Given the description of an element on the screen output the (x, y) to click on. 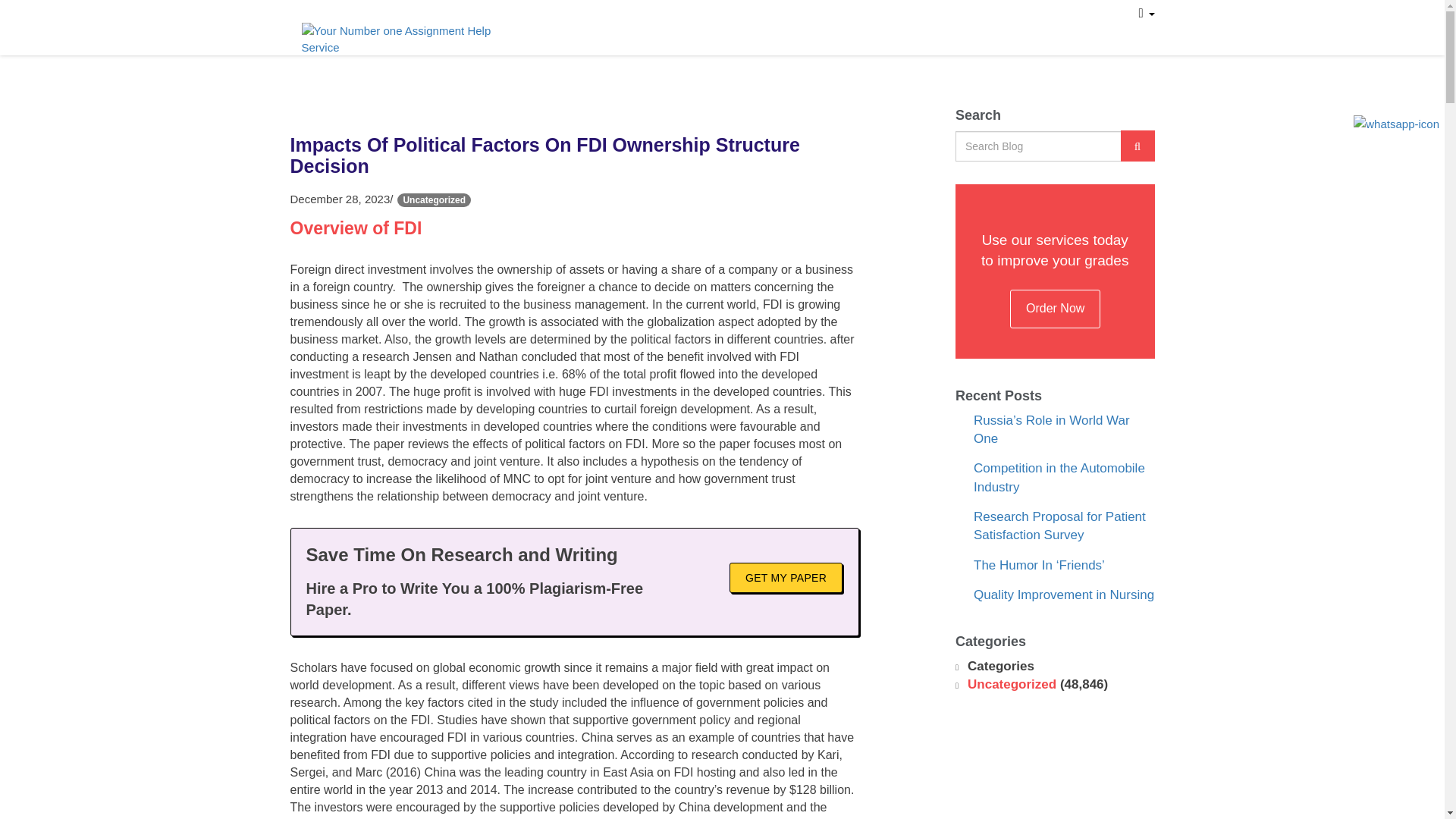
Advantages And Disadvantages Of Franchising Commerce Essay (1060, 646)
Resin Modified Glass Ionomer Cements (1060, 589)
Physicochemical Study of Palm Ester for Cosmetic Application (1063, 492)
Order Now (941, 19)
Order Now (1055, 323)
Features of Location Strategy Planning (1058, 540)
Study on Is Accounting Profession under Threat (1043, 444)
Uncategorized (1012, 754)
Uncategorized (433, 214)
GET MY PAPER (786, 593)
